Given the description of an element on the screen output the (x, y) to click on. 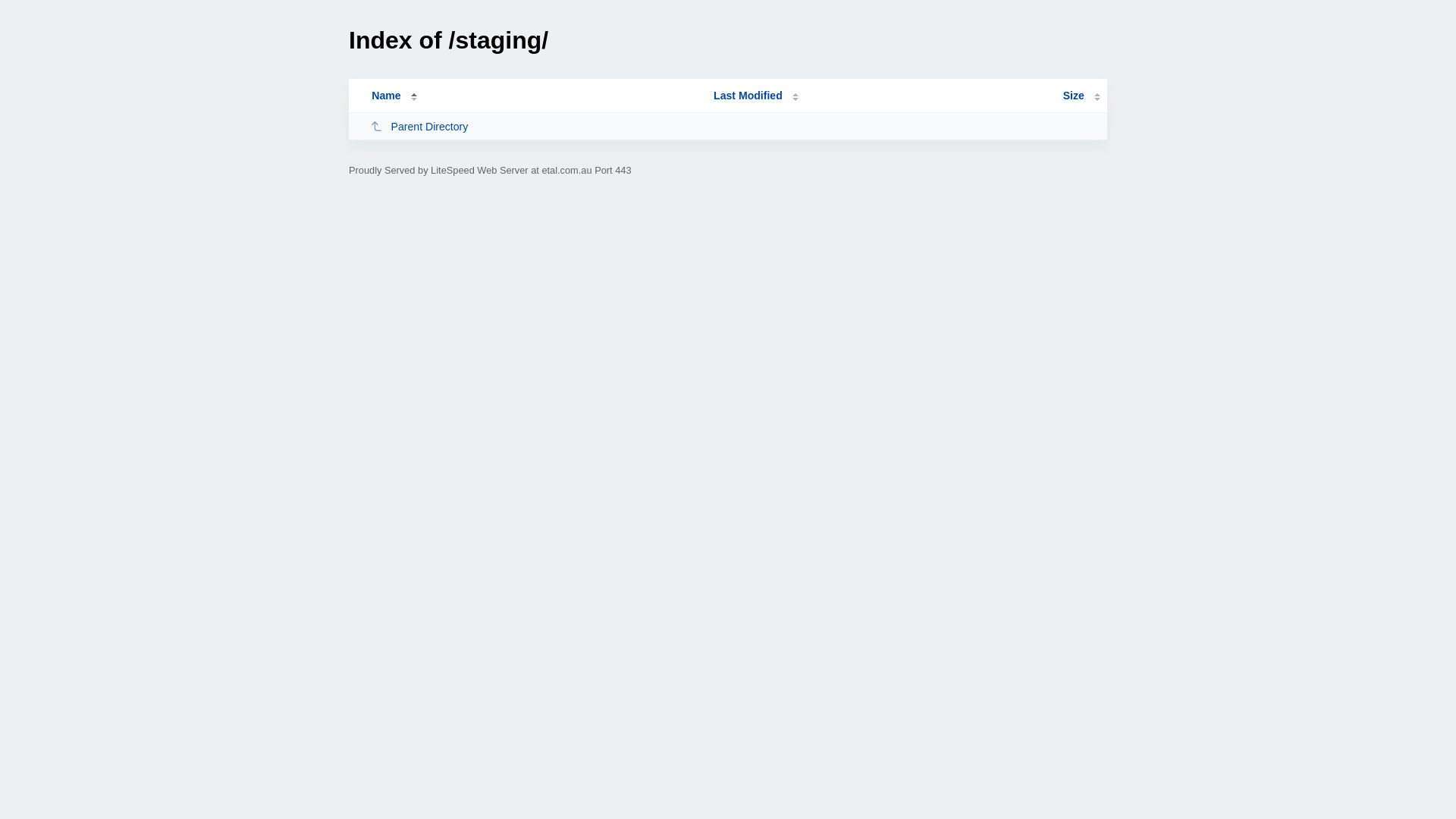
Name Element type: text (385, 95)
Last Modified Element type: text (755, 95)
Parent Directory Element type: text (534, 125)
Size Element type: text (1081, 95)
